Given the description of an element on the screen output the (x, y) to click on. 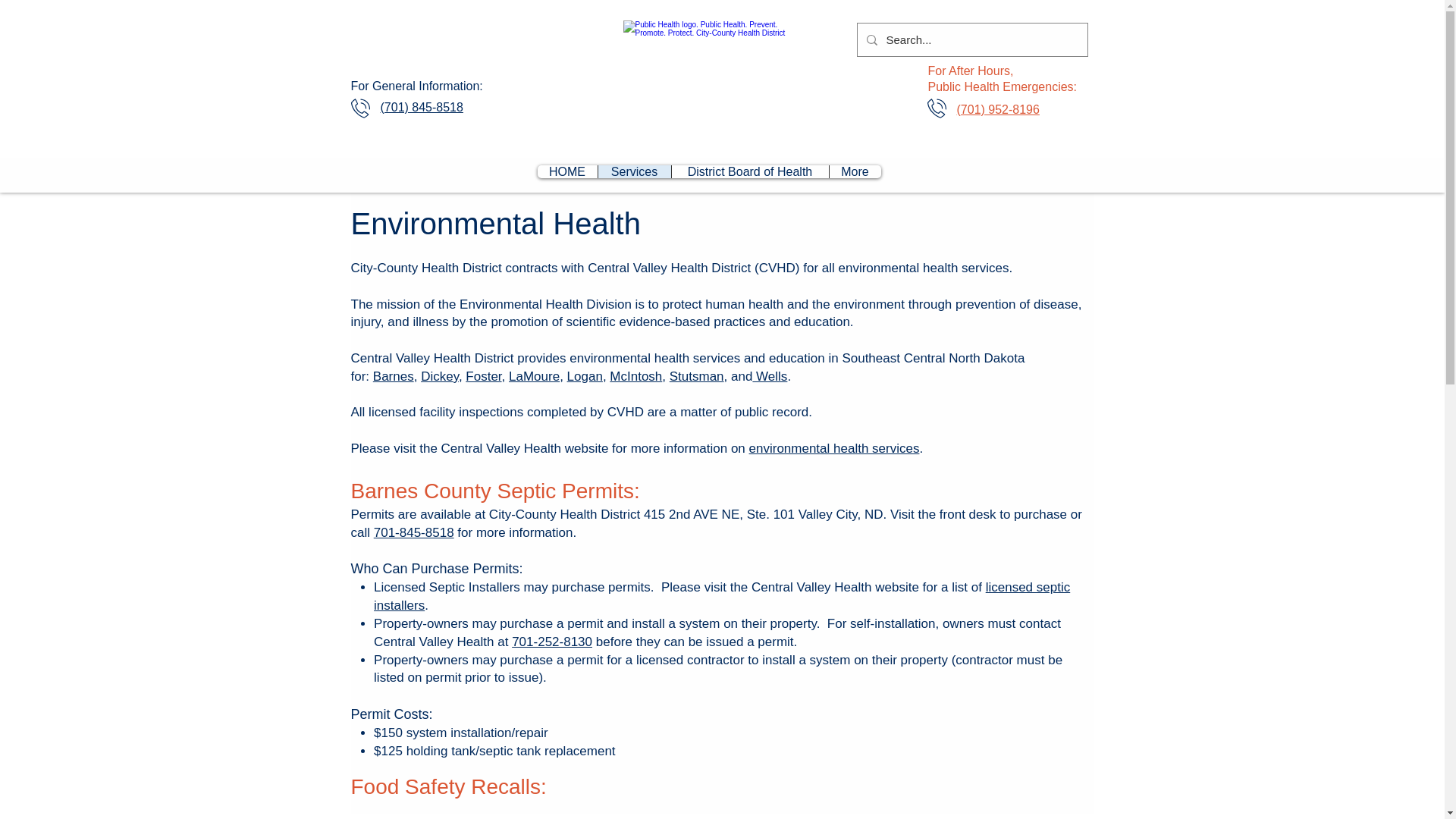
701-252-8130 (552, 641)
LaMoure (533, 376)
701-845-8518 (414, 532)
Barnes (392, 376)
Foster (482, 376)
Dickey (439, 376)
McIntosh (636, 376)
 Wells (769, 376)
Stutsman (696, 376)
environmental health services (834, 448)
